Given the description of an element on the screen output the (x, y) to click on. 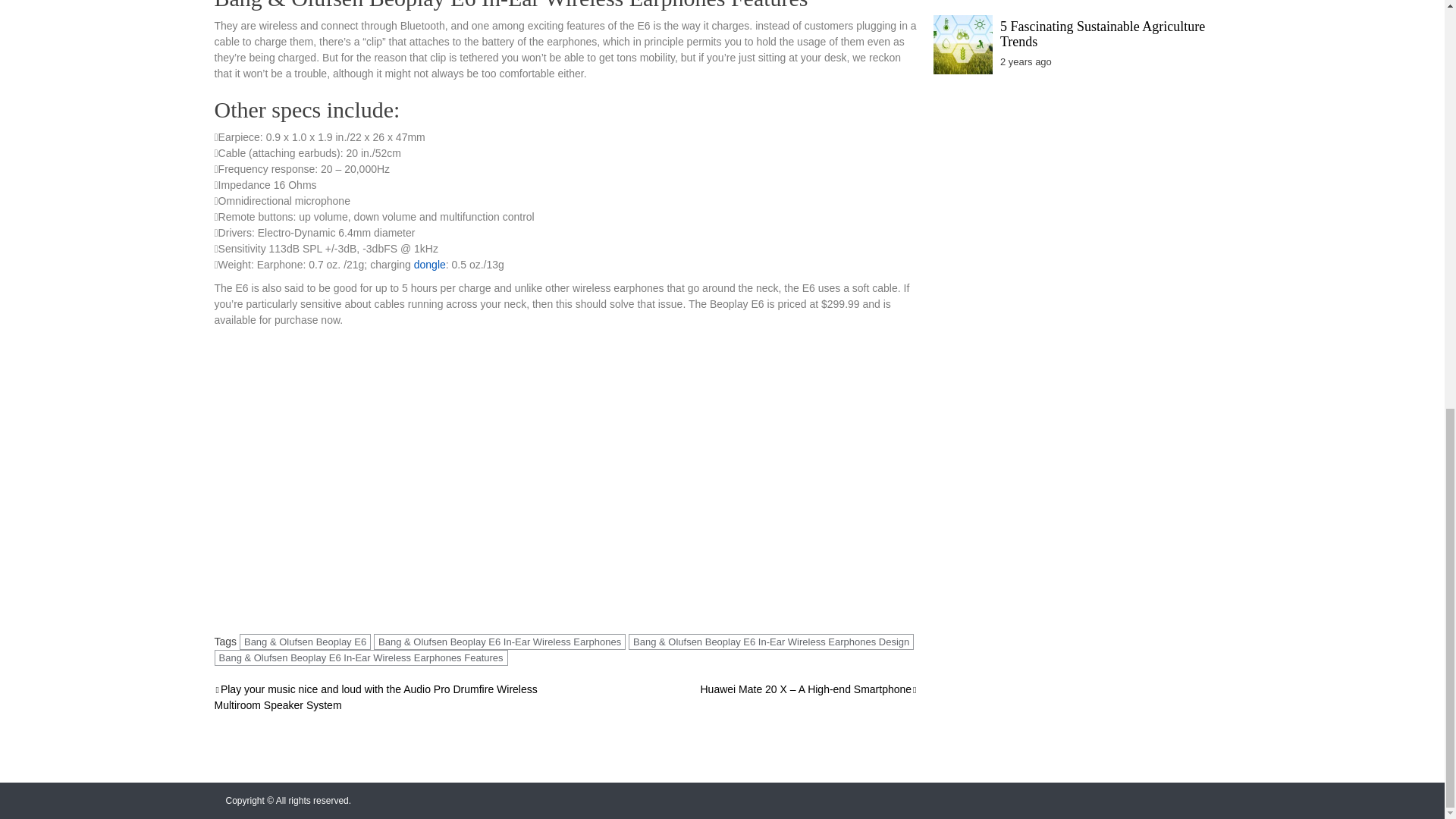
BeoPlay E6 Wireless Earphones (456, 472)
dongle (429, 264)
